Given the description of an element on the screen output the (x, y) to click on. 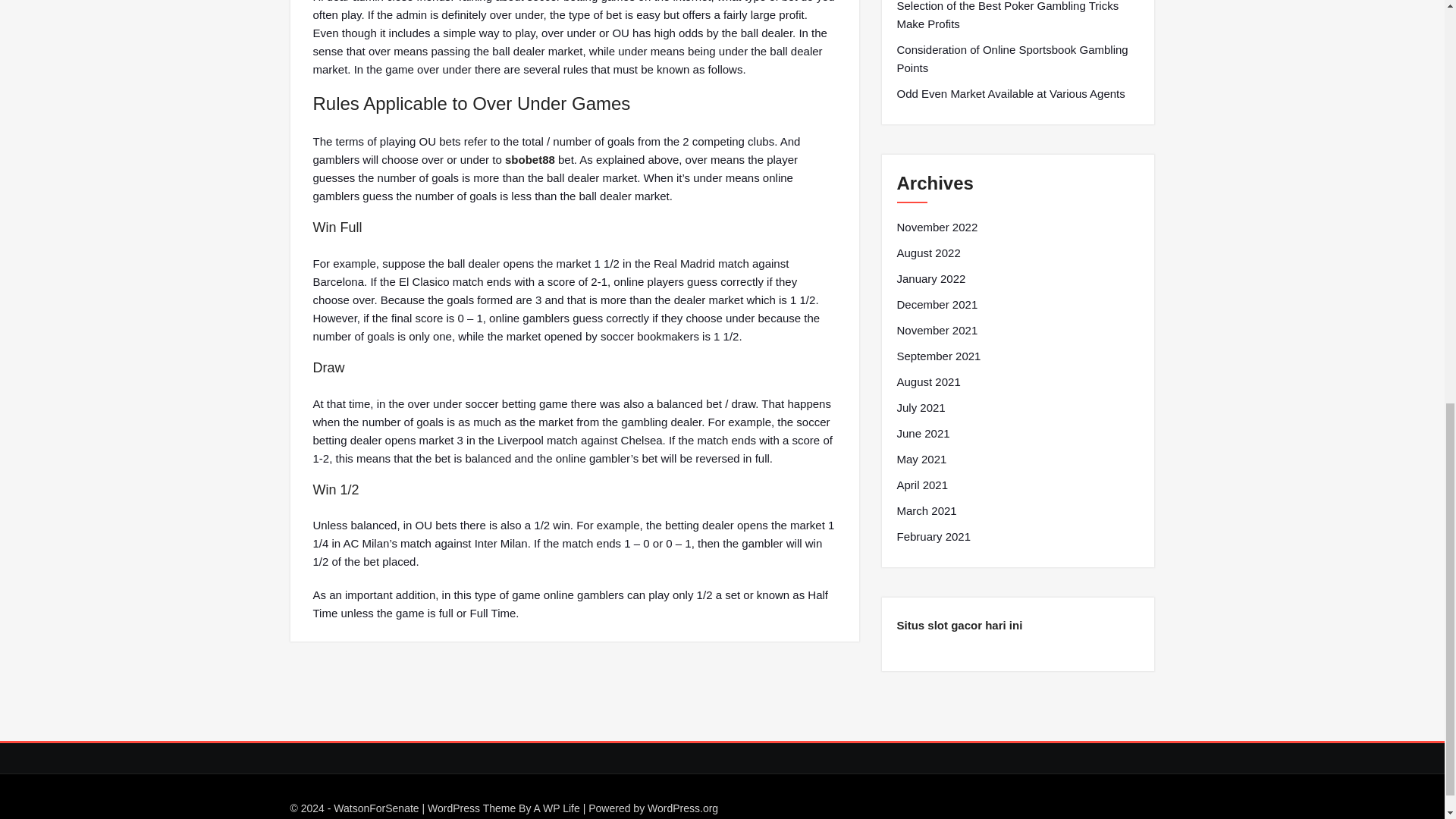
November 2021 (936, 330)
Odd Even Market Available at Various Agents (1010, 94)
July 2021 (920, 407)
December 2021 (936, 304)
Selection of the Best Poker Gambling Tricks Make Profits (1017, 16)
November 2022 (936, 227)
September 2021 (937, 356)
April 2021 (921, 484)
January 2022 (930, 279)
Consideration of Online Sportsbook Gambling Points (1017, 58)
August 2022 (927, 253)
May 2021 (921, 459)
June 2021 (922, 434)
sbobet88 (529, 159)
August 2021 (927, 382)
